Given the description of an element on the screen output the (x, y) to click on. 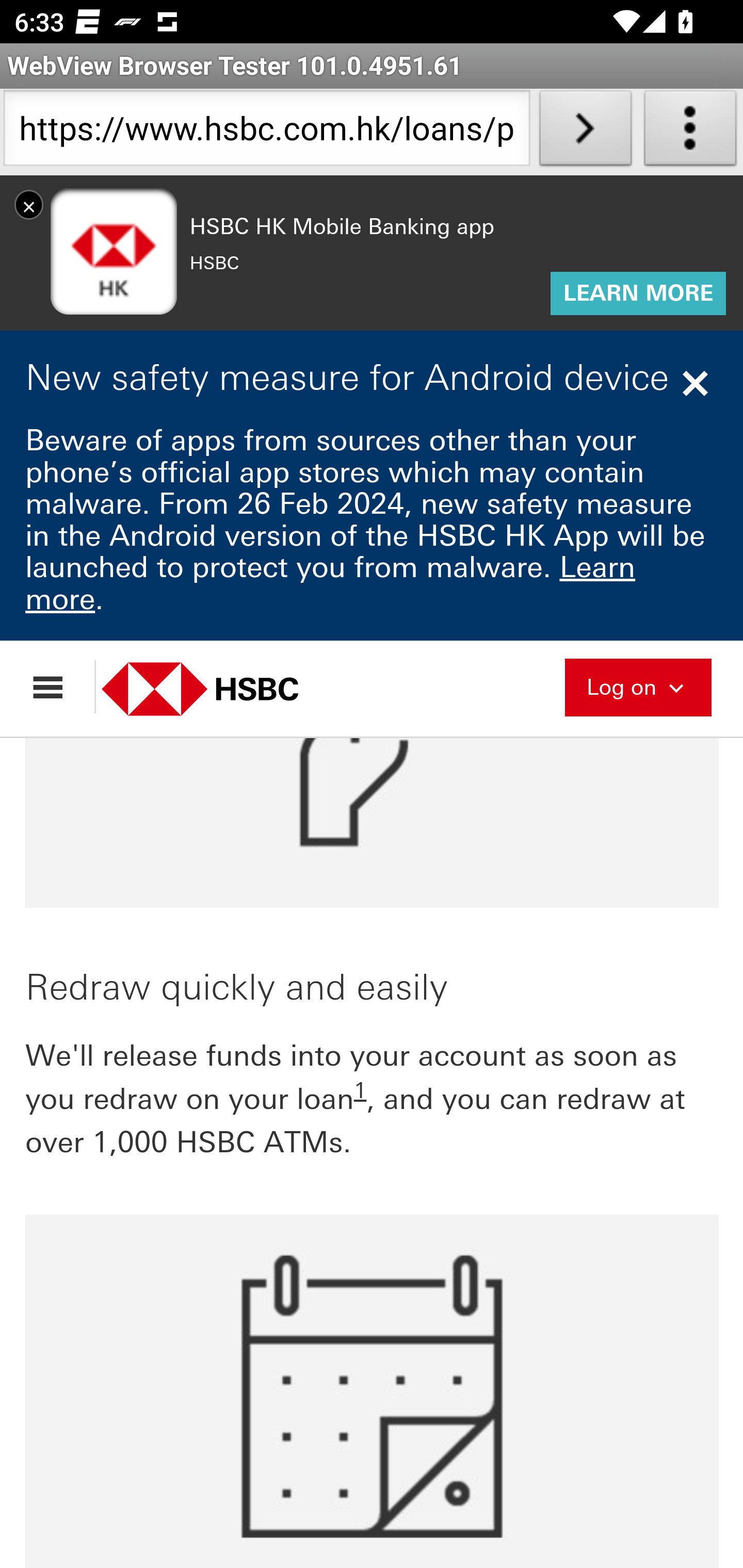
Load URL (585, 132)
About WebView (690, 132)
X (29, 204)
LEARN MORE (638, 293)
LEARN MORE (638, 293)
Apply now (372, 343)
Close (697, 382)
Learn more (331, 582)
Log on Collapsed (638, 685)
Open menu (57, 686)
HSBC Hong Kong Bank (221, 688)
